Given the description of an element on the screen output the (x, y) to click on. 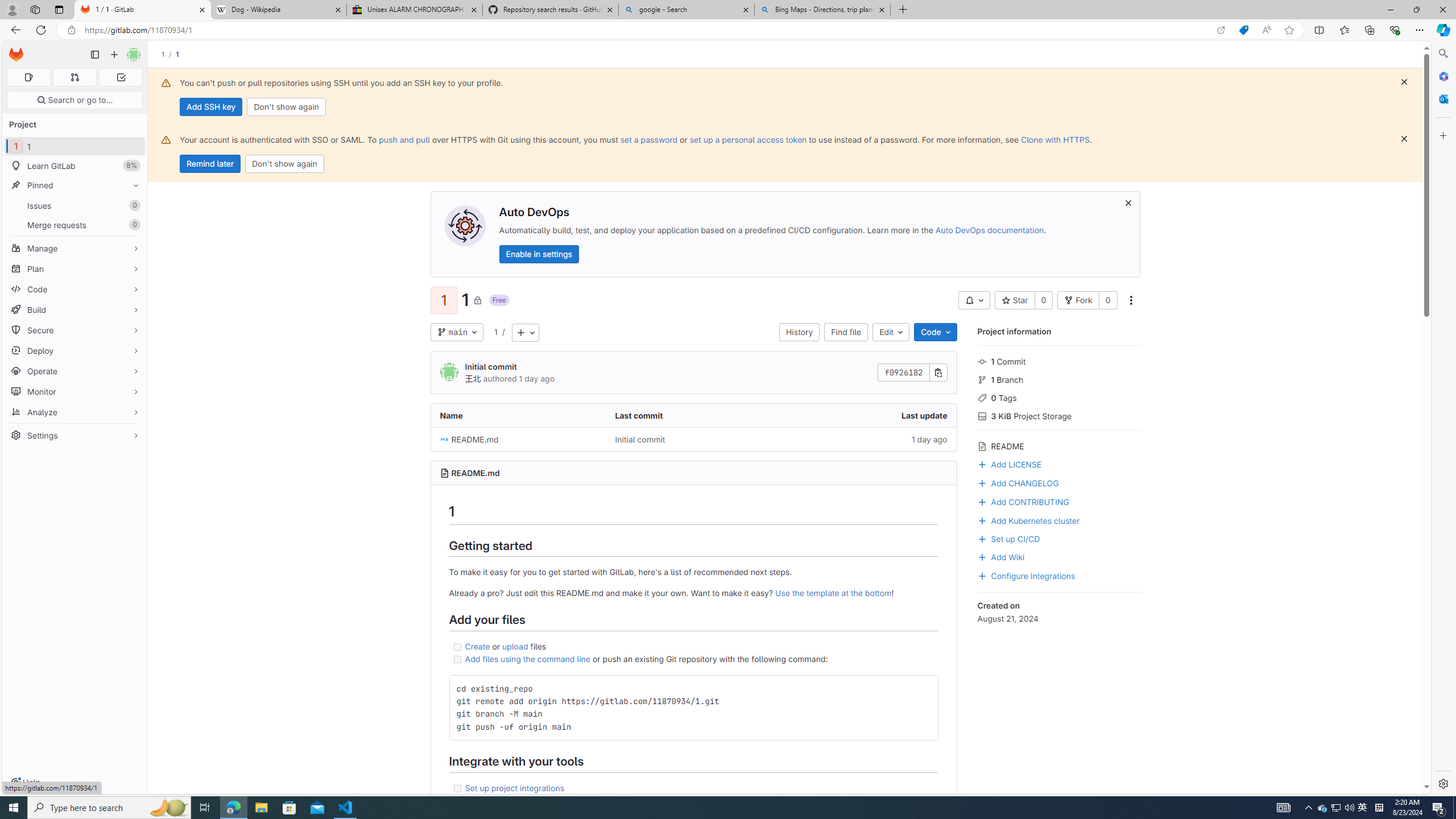
AutomationID: __BVID__514__BV_toggle_ (974, 300)
Unpin Issues (132, 205)
README.md (517, 439)
Deploy (74, 350)
README (1058, 444)
Last commit (693, 415)
Auto DevOps documentation (988, 230)
Enable in settings (539, 253)
Analyze (74, 411)
Deploy (74, 350)
